Given the description of an element on the screen output the (x, y) to click on. 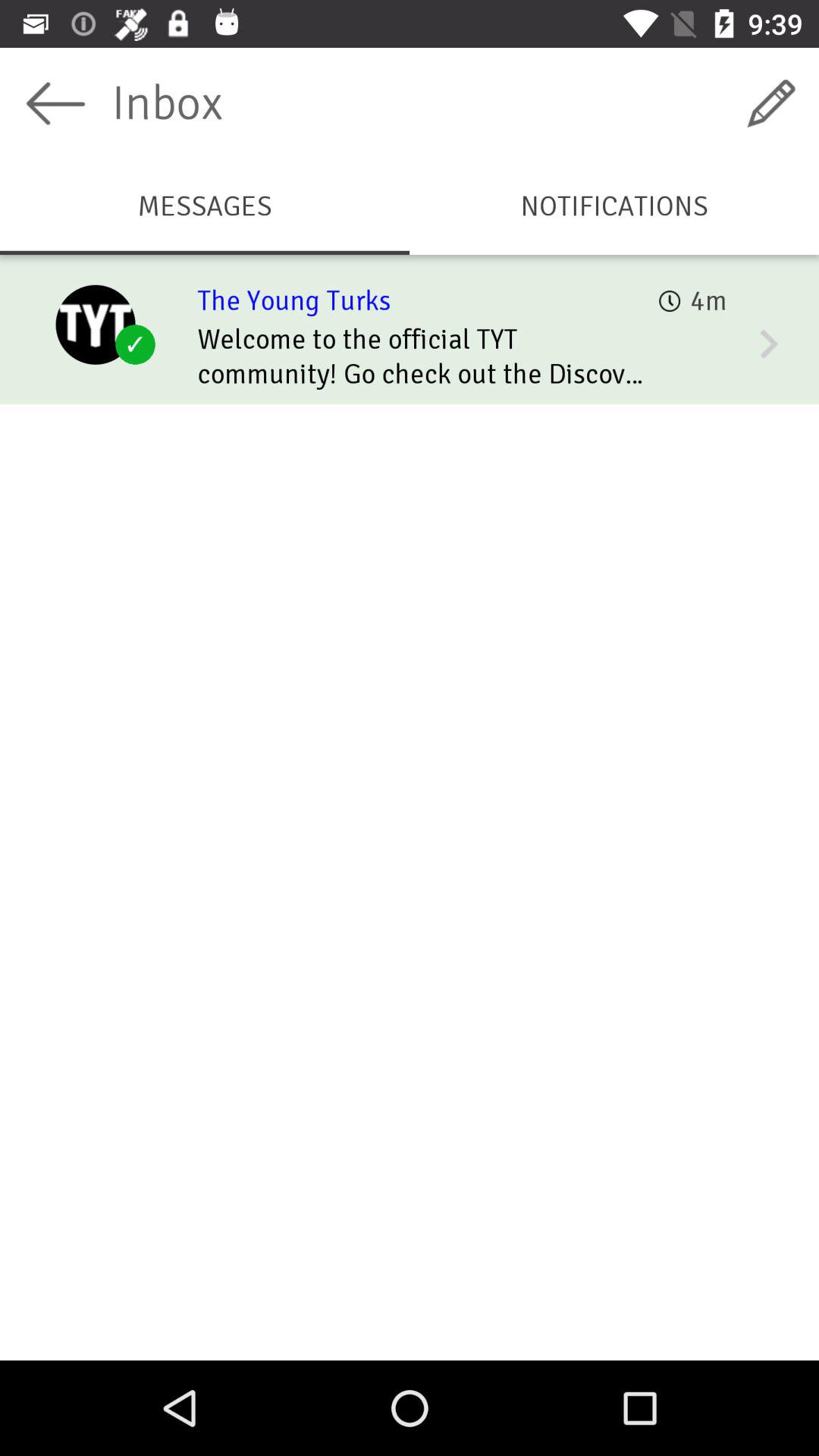
back to inbox (55, 103)
